Given the description of an element on the screen output the (x, y) to click on. 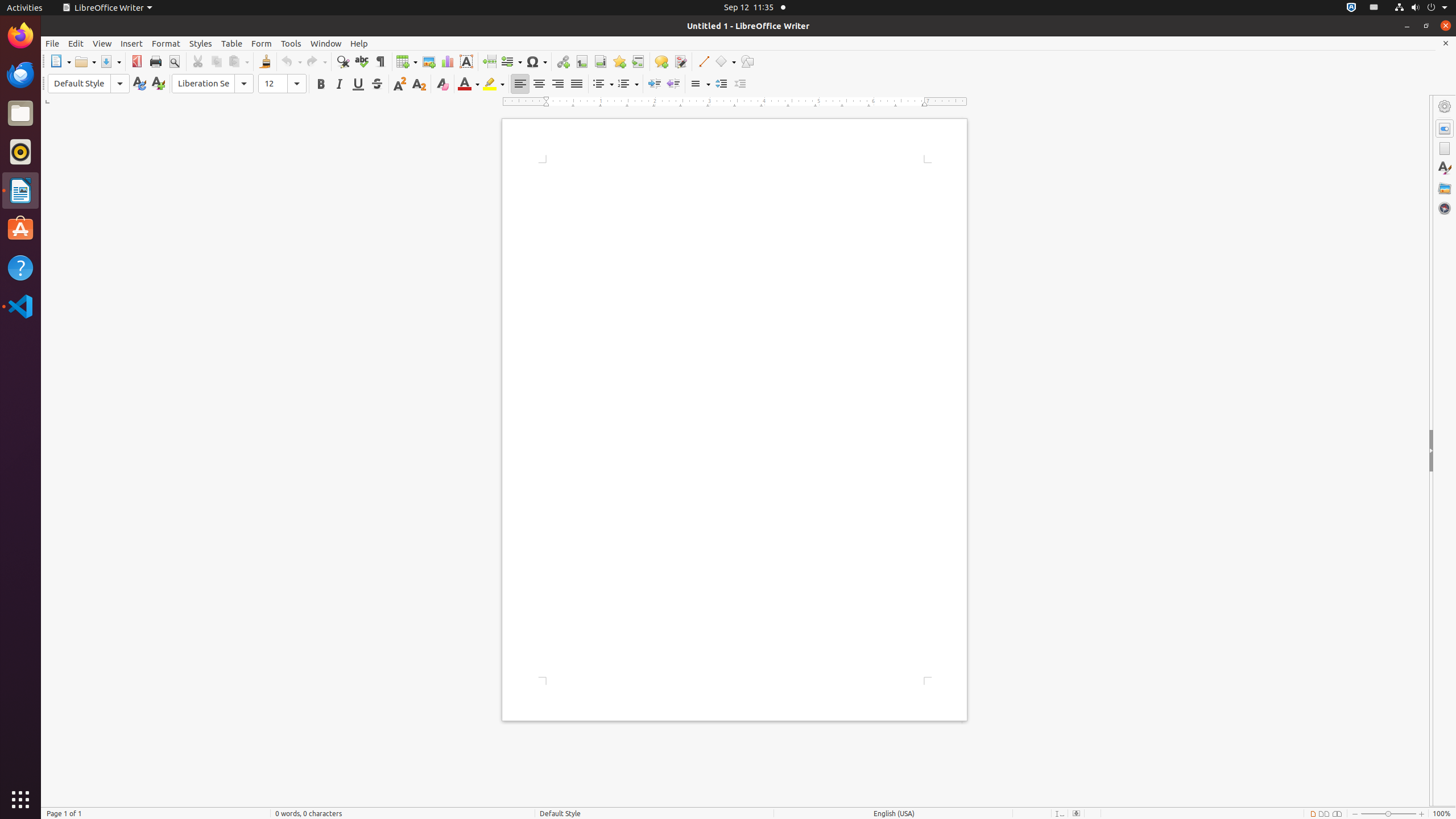
Gallery Element type: radio-button (1444, 188)
Left Element type: toggle-button (519, 83)
Form Element type: menu (261, 43)
Italic Element type: toggle-button (338, 83)
Superscript Element type: toggle-button (399, 83)
